Given the description of an element on the screen output the (x, y) to click on. 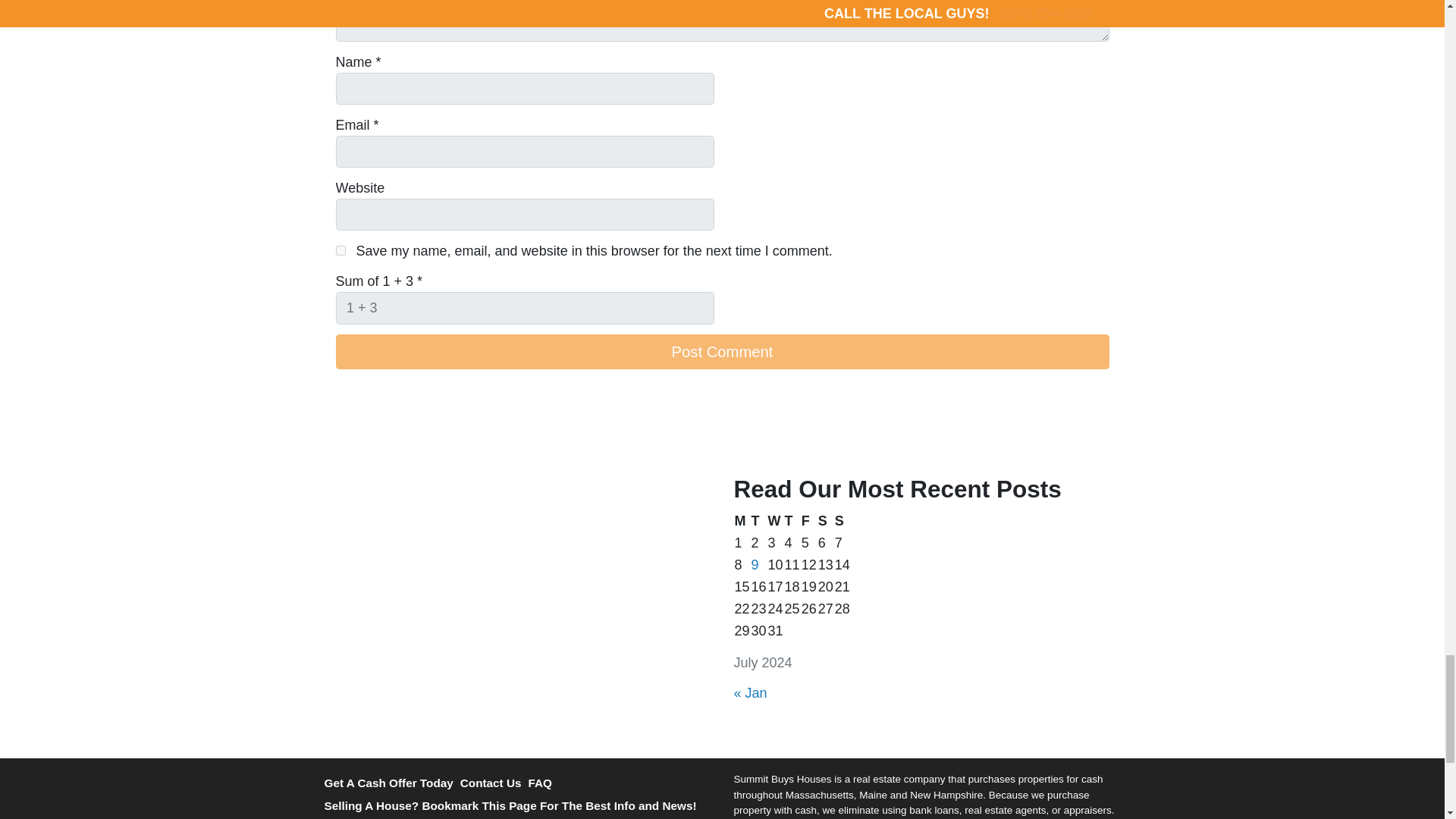
Saturday (825, 521)
Friday (808, 521)
Monday (742, 521)
Sunday (842, 521)
yes (339, 250)
Tuesday (759, 521)
Thursday (792, 521)
Wednesday (775, 521)
Post Comment (721, 351)
